Given the description of an element on the screen output the (x, y) to click on. 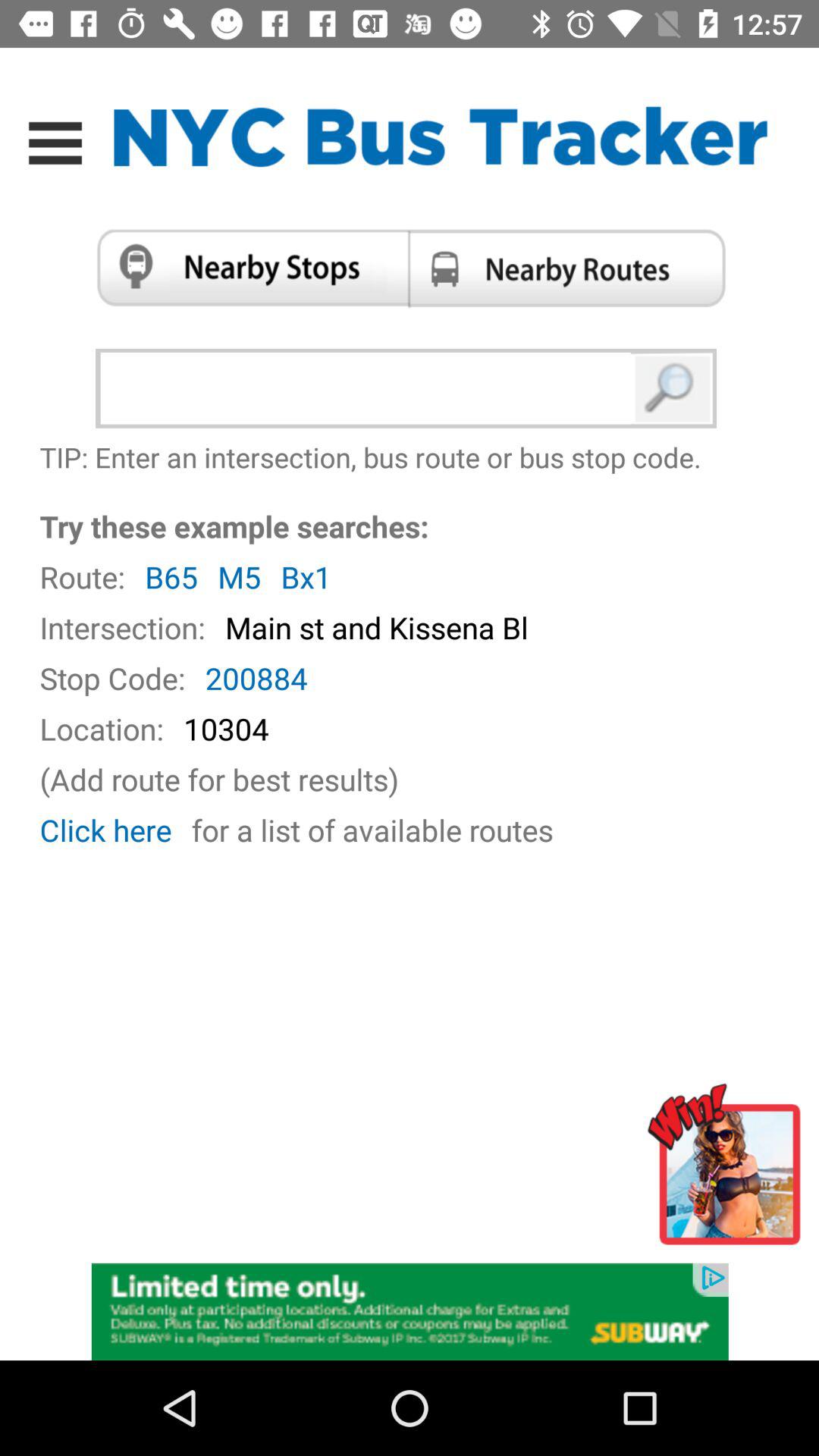
research field (369, 388)
